Given the description of an element on the screen output the (x, y) to click on. 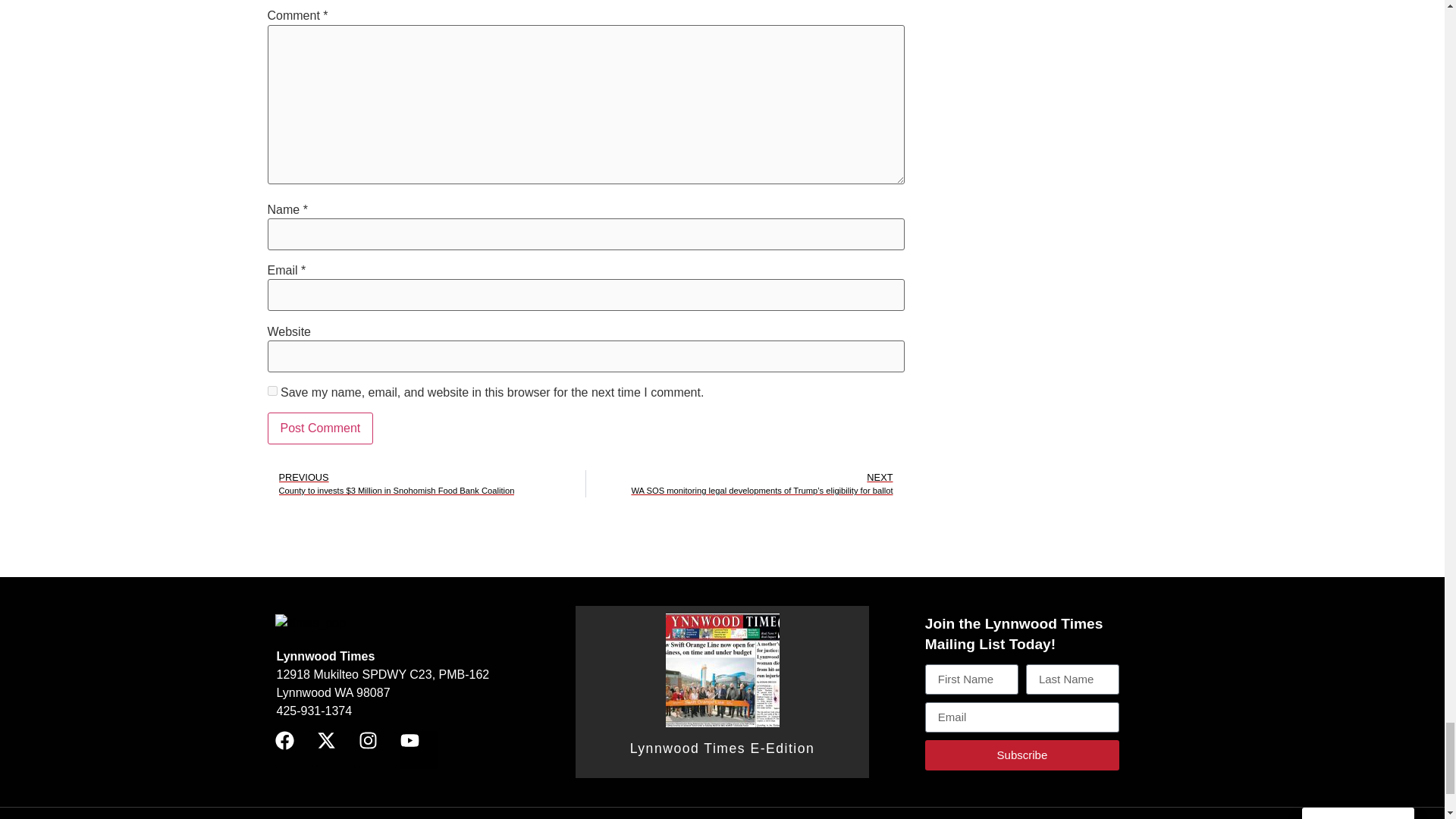
Post Comment (319, 428)
yes (271, 390)
